Given the description of an element on the screen output the (x, y) to click on. 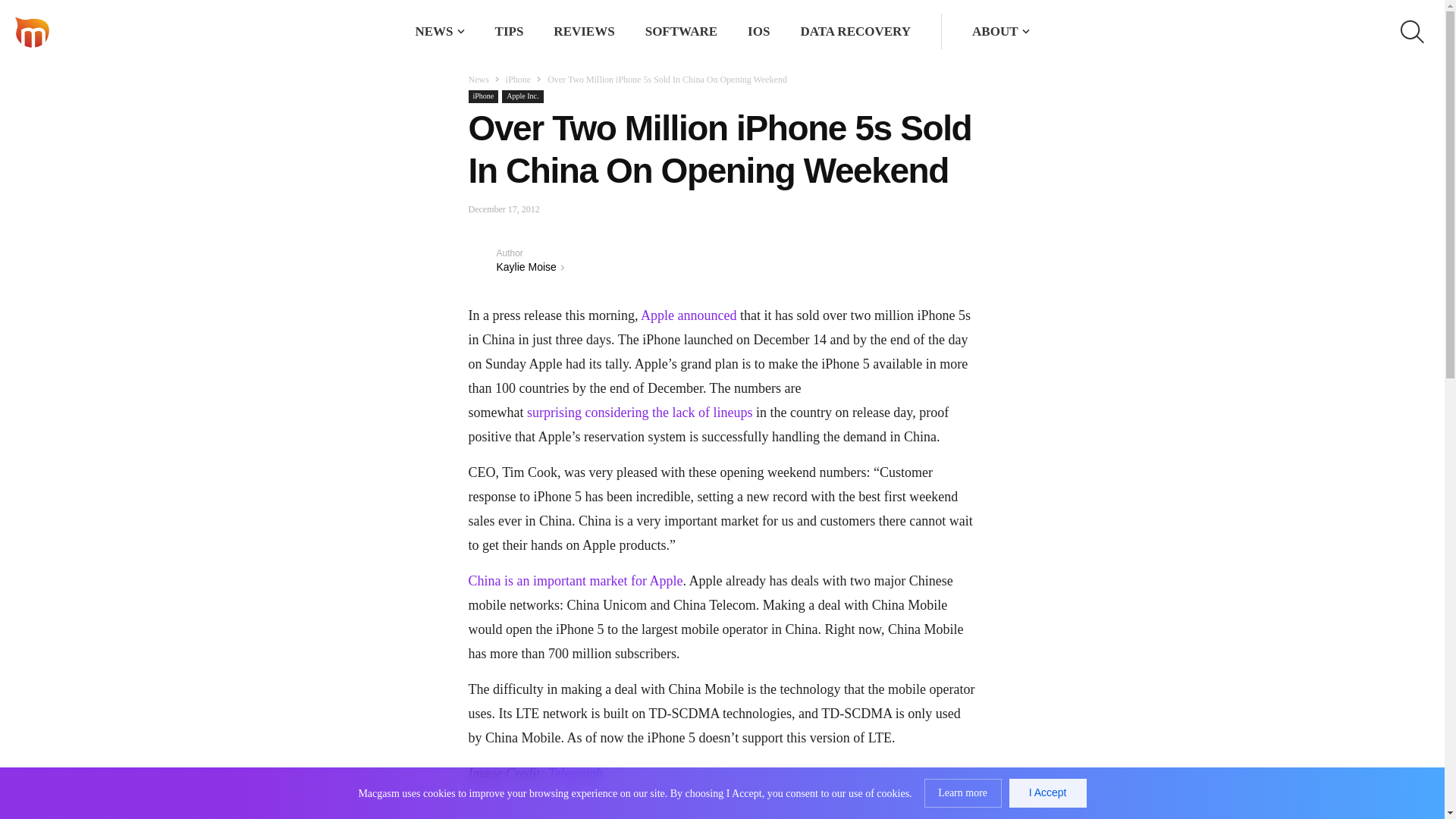
REVIEWS (583, 31)
iPhone (483, 96)
Kaylie Moise (482, 258)
Apple announced (688, 314)
surprising considering the lack of lineups (639, 412)
Kaylie Moise (526, 266)
IOS (759, 31)
TIPS (509, 31)
ABOUT (994, 31)
Apple Inc. (522, 96)
NEWS (433, 31)
View all posts in iPhone (518, 79)
Search (918, 31)
China is an important market for Apple (575, 580)
News (478, 79)
